Given the description of an element on the screen output the (x, y) to click on. 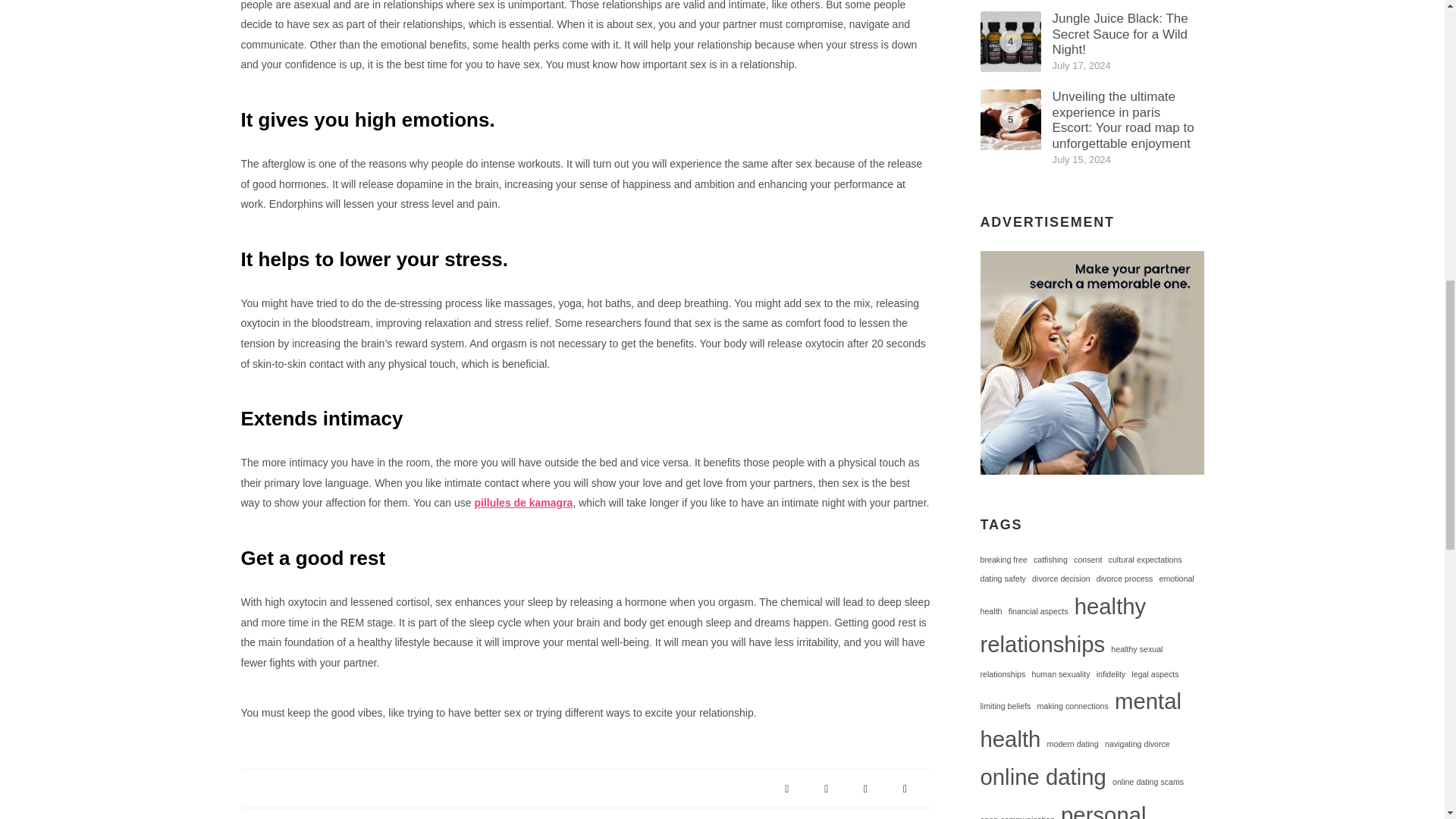
pillules de kamagra (523, 502)
